Given the description of an element on the screen output the (x, y) to click on. 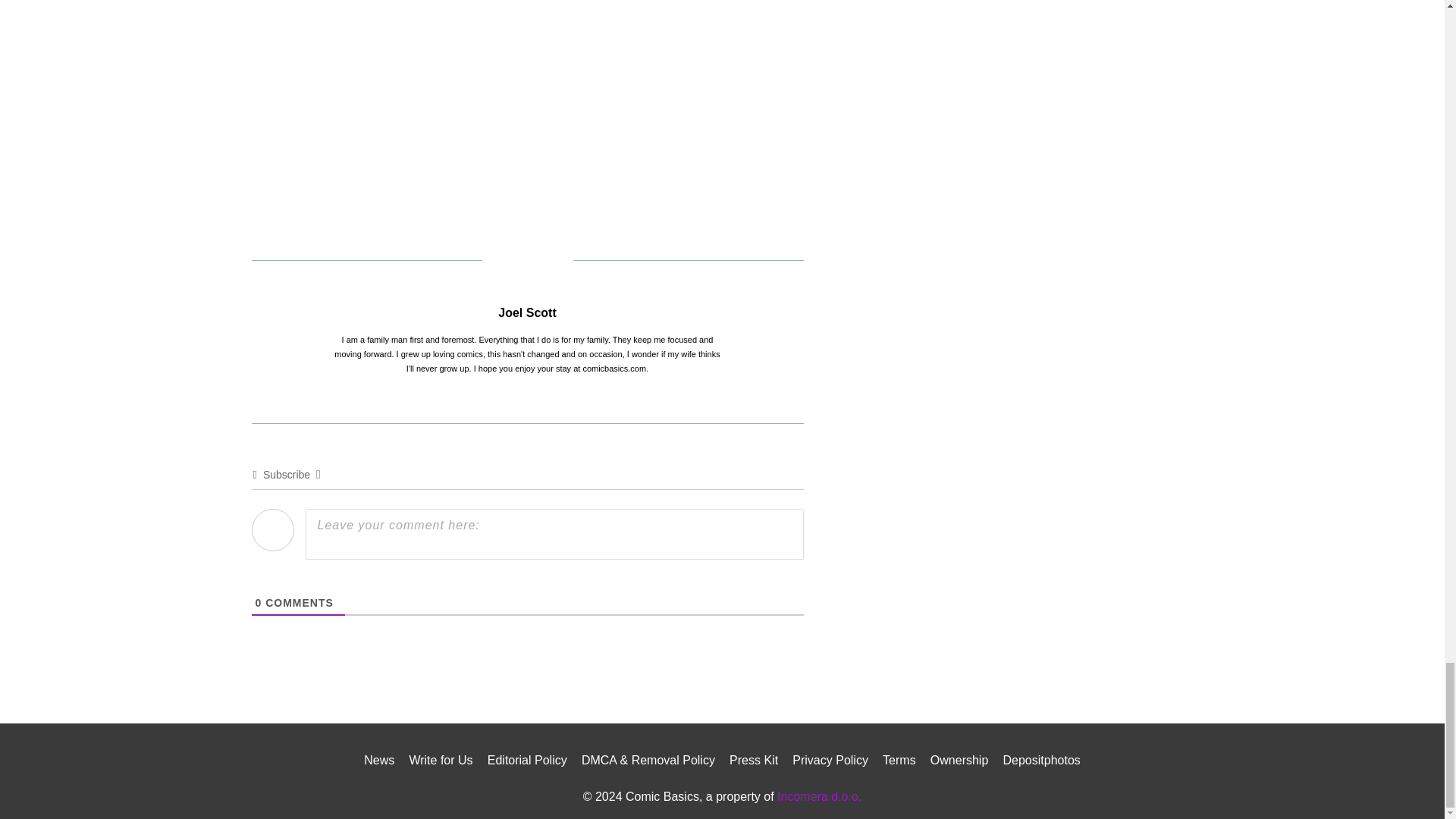
Incomera d.o.o. (819, 796)
Posts by Joel Scott (526, 312)
